Given the description of an element on the screen output the (x, y) to click on. 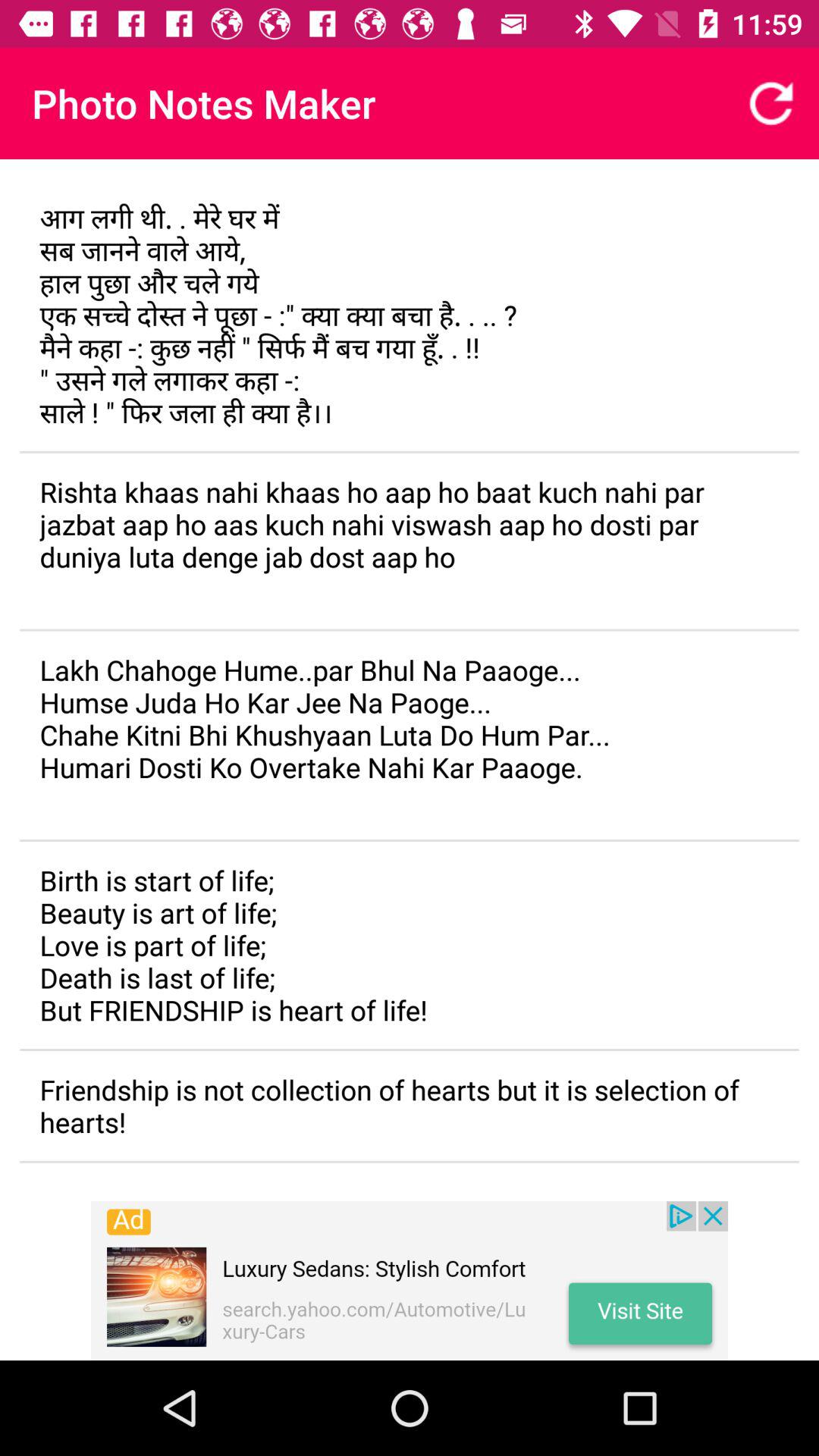
view advertisement (409, 1280)
